Given the description of an element on the screen output the (x, y) to click on. 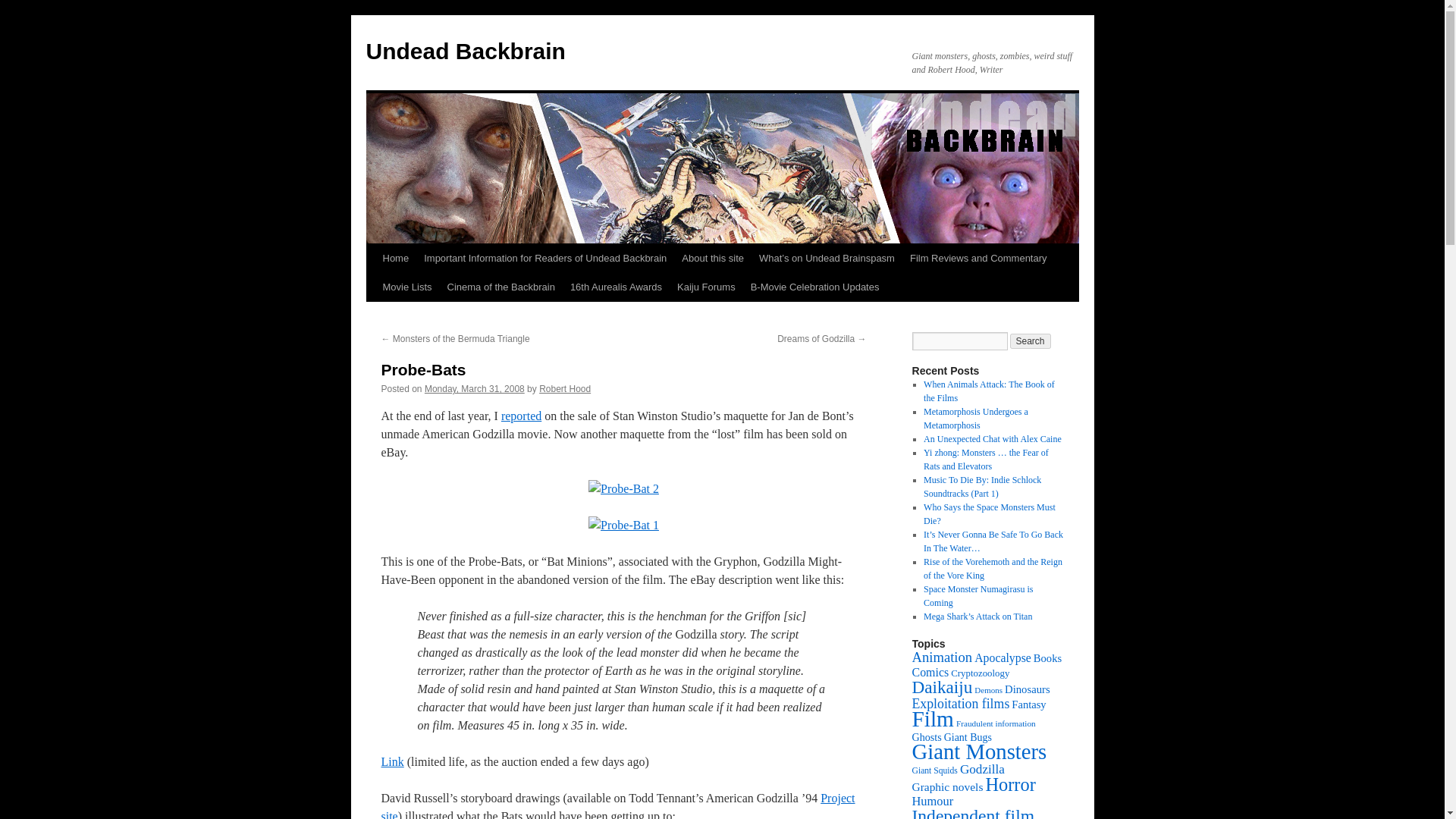
Cinema of the Backbrain (500, 287)
Important Information for Readers of Undead Backbrain (545, 258)
Movie Lists (406, 287)
Kaiju Forums (705, 287)
B-Movie Celebration Updates (814, 287)
16th Aurealis Awards (615, 287)
Search (1030, 340)
Undead Backbrain (464, 50)
3:34 pm (474, 388)
Probe-Bat 1 (623, 524)
